Given the description of an element on the screen output the (x, y) to click on. 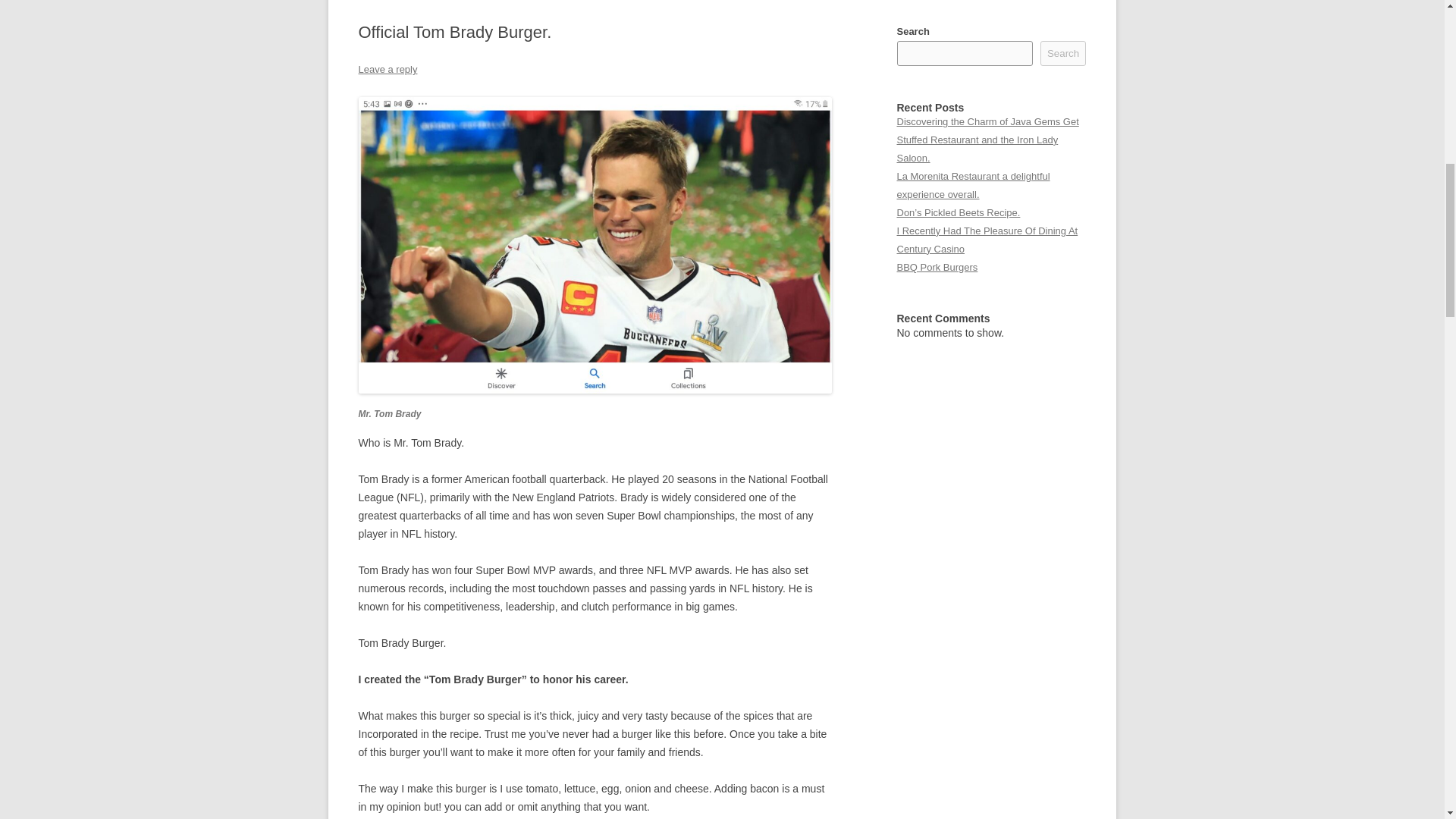
La Morenita Restaurant a delightful experience overall. (972, 184)
BBQ Pork Burgers (936, 266)
Leave a reply (387, 69)
I Recently Had The Pleasure Of Dining At Century Casino (986, 239)
Search (1063, 53)
